Given the description of an element on the screen output the (x, y) to click on. 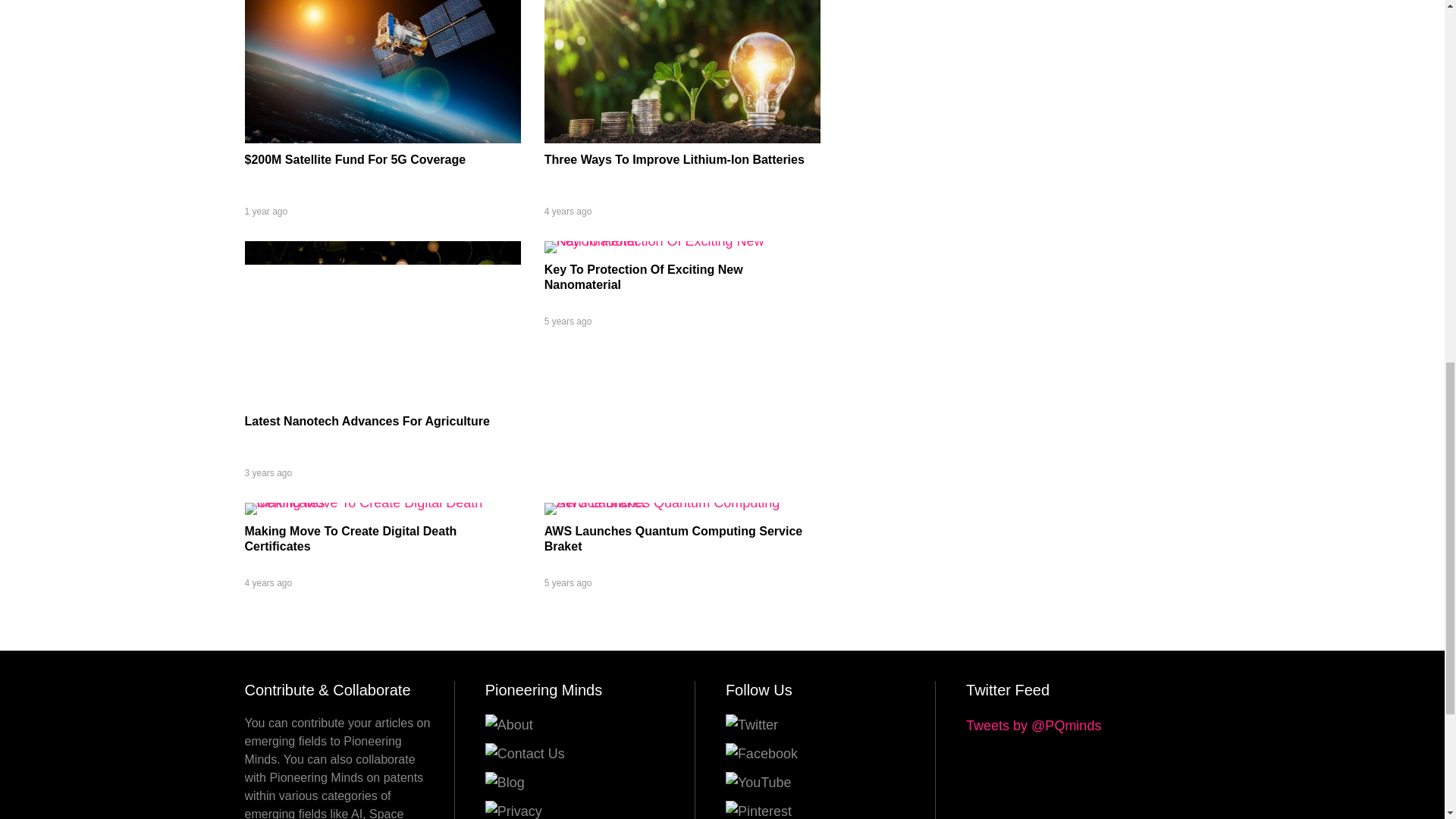
Key To Protection Of Exciting New Nanomaterial (682, 240)
AWS Launches Quantum Computing Service Braket (673, 538)
Latest Nanotech Advances For Agriculture (366, 420)
Latest Nanotech Advances For Agriculture (382, 400)
AWS Launches Quantum Computing Service Braket (682, 502)
Making Move To Create Digital Death Certificates (350, 538)
Making Move To Create Digital Death Certificates (382, 502)
Three Ways To Improve Lithium-Ion Batteries (682, 138)
Three Ways To Improve Lithium-Ion Batteries (674, 159)
Key To Protection Of Exciting New Nanomaterial (643, 276)
